Given the description of an element on the screen output the (x, y) to click on. 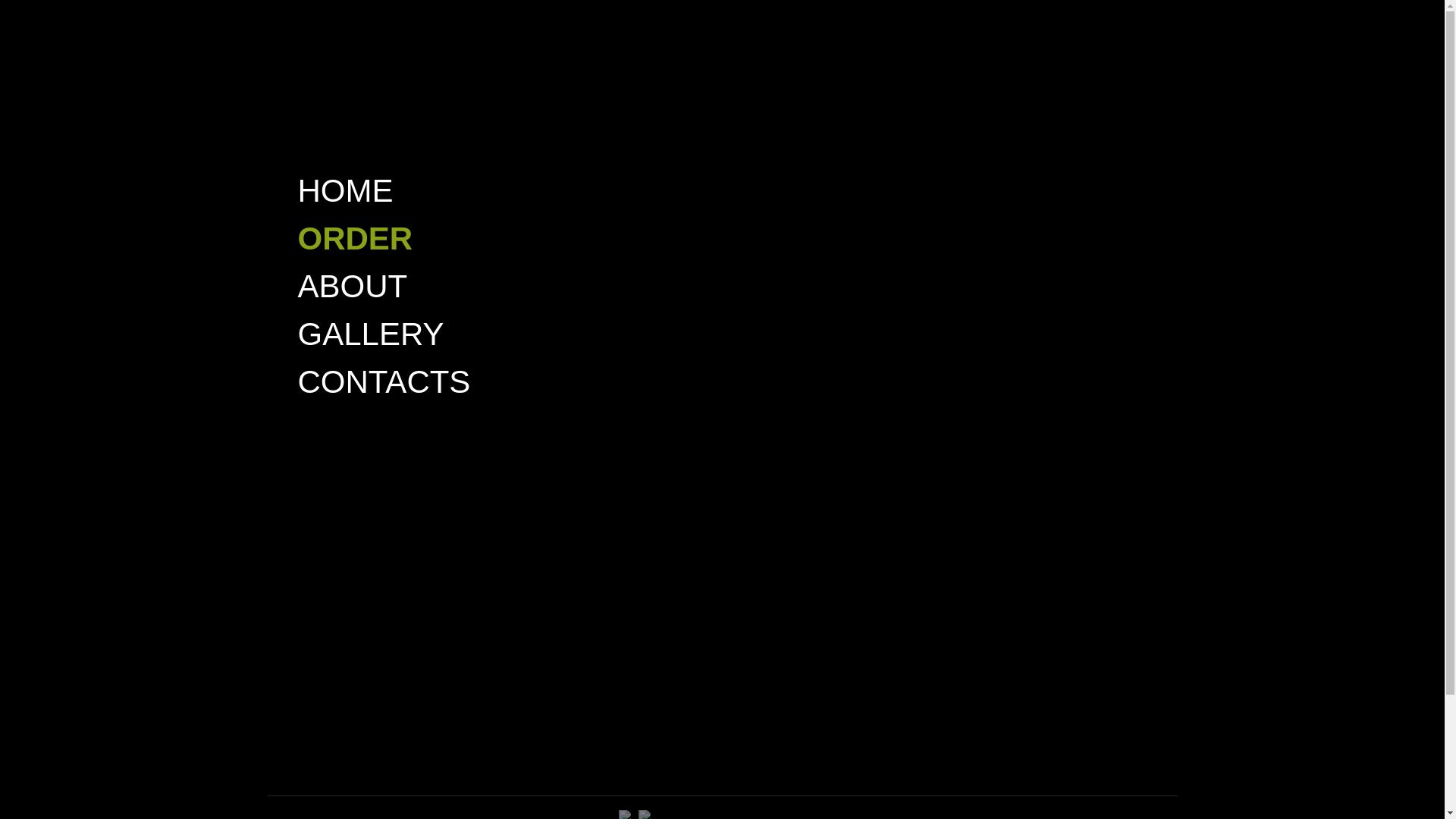
HOME Element type: text (344, 190)
ABOUT Element type: text (351, 286)
ORDER Element type: text (354, 238)
CONTACTS Element type: text (383, 381)
GALLERY Element type: text (370, 333)
